Given the description of an element on the screen output the (x, y) to click on. 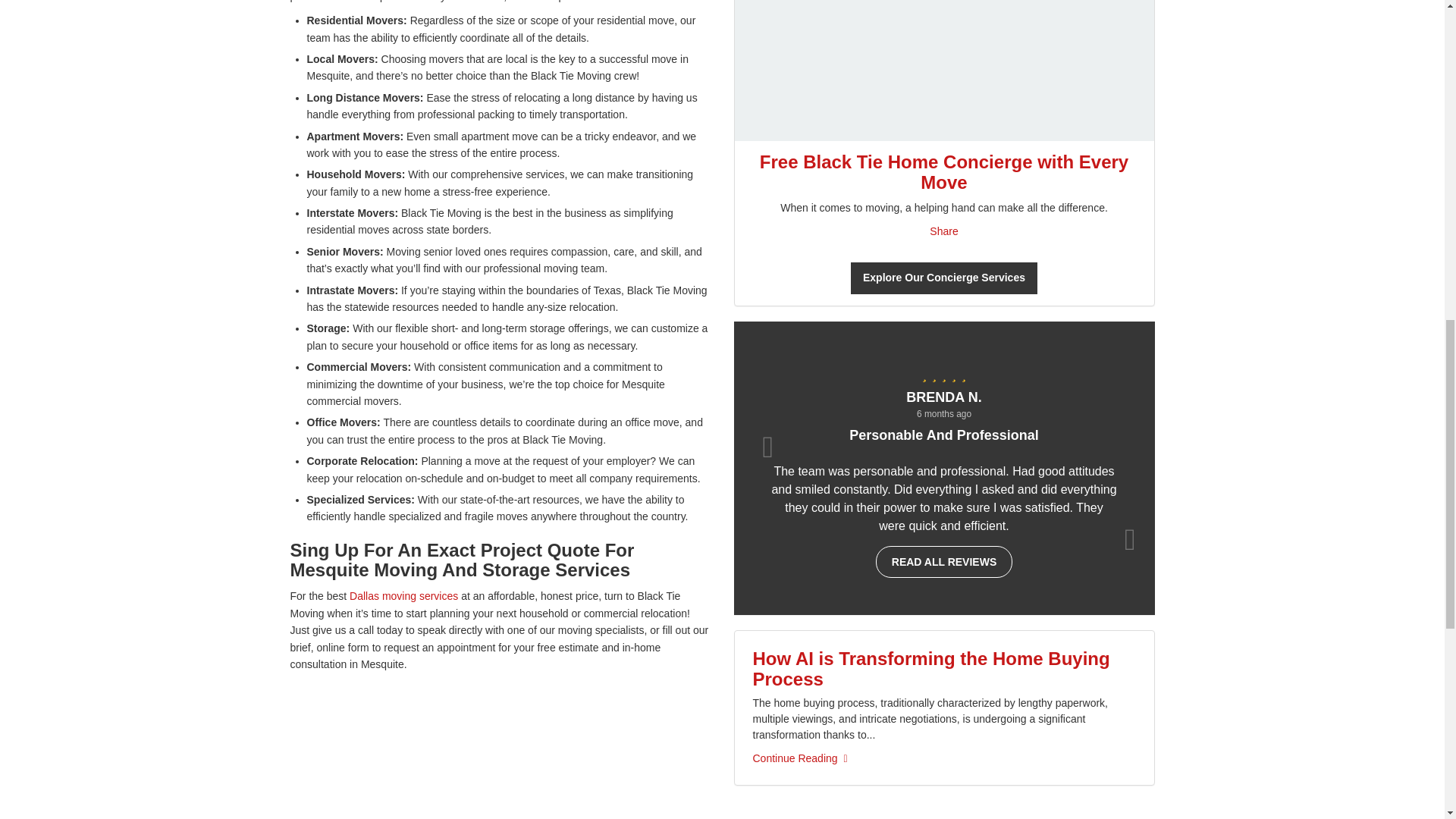
5 Stars (943, 372)
